Given the description of an element on the screen output the (x, y) to click on. 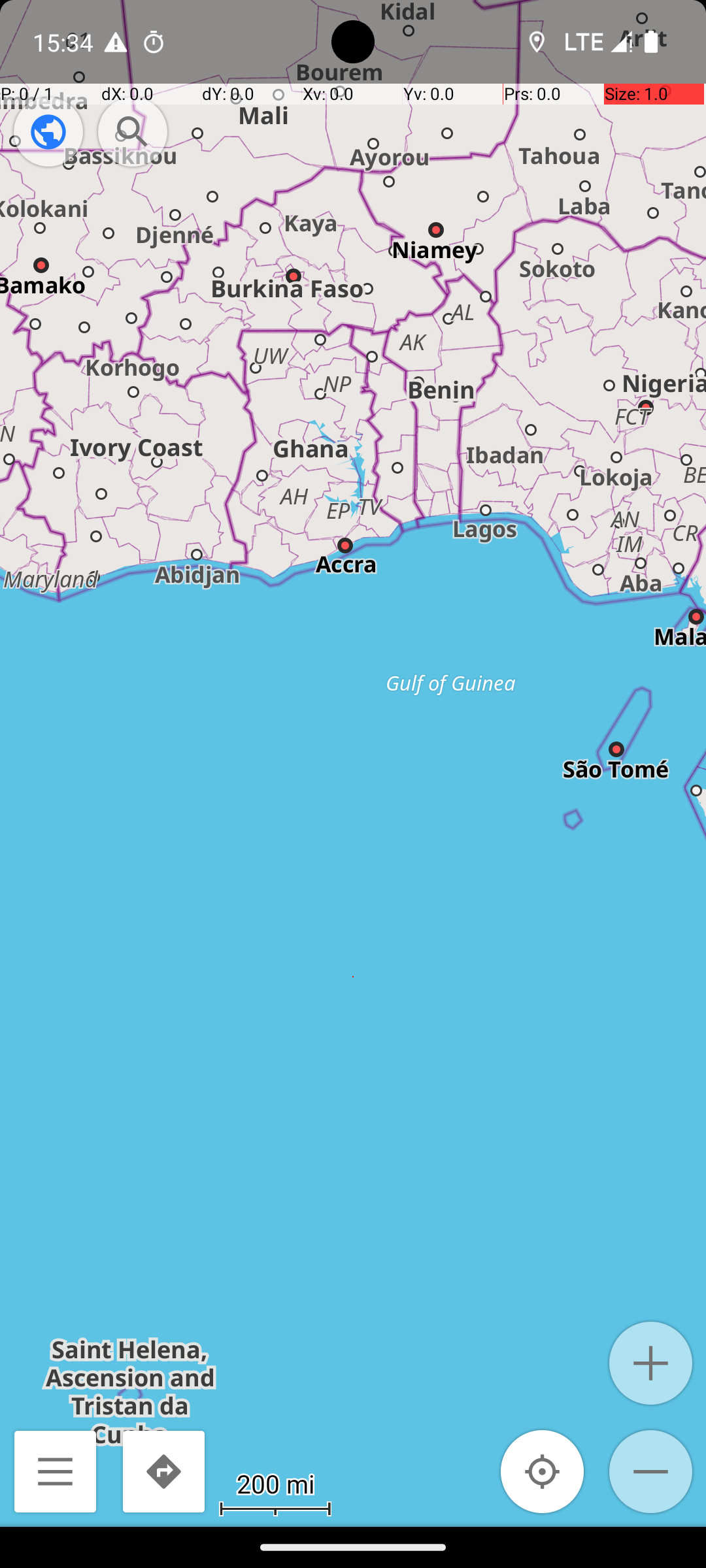
Back to menu Element type: android.widget.ImageButton (55, 1471)
Route Element type: android.widget.ImageButton (163, 1471)
200 mi Element type: android.widget.TextView (274, 1483)
Position not yet known. Element type: android.widget.ImageButton (542, 1471)
